Given the description of an element on the screen output the (x, y) to click on. 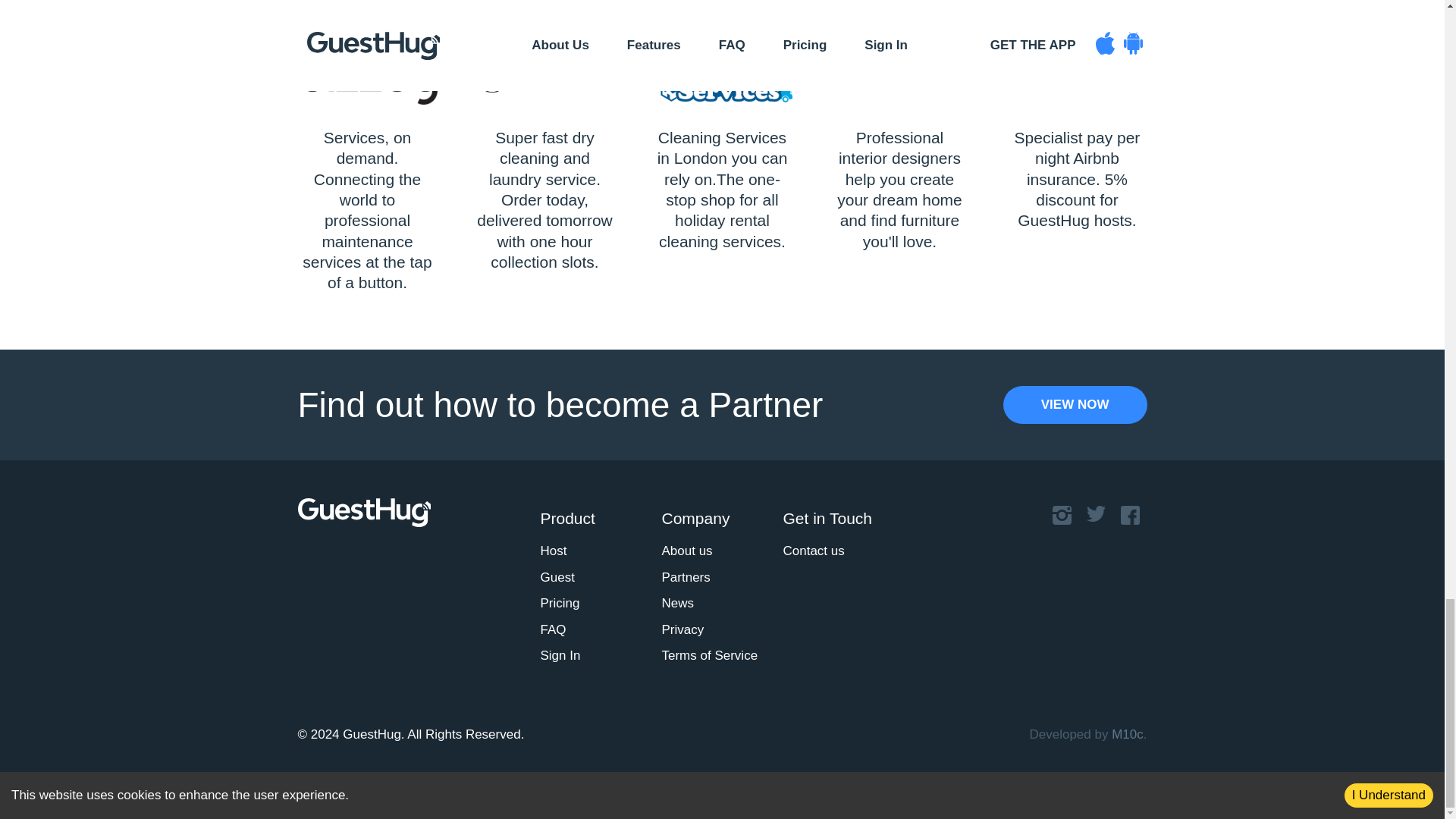
Pricing (559, 603)
News (677, 603)
About us (686, 551)
FAQ (553, 630)
Host (553, 551)
Privacy (682, 630)
Sign In (559, 655)
VIEW NOW (1075, 404)
Partners (685, 577)
Contact us (813, 551)
